Given the description of an element on the screen output the (x, y) to click on. 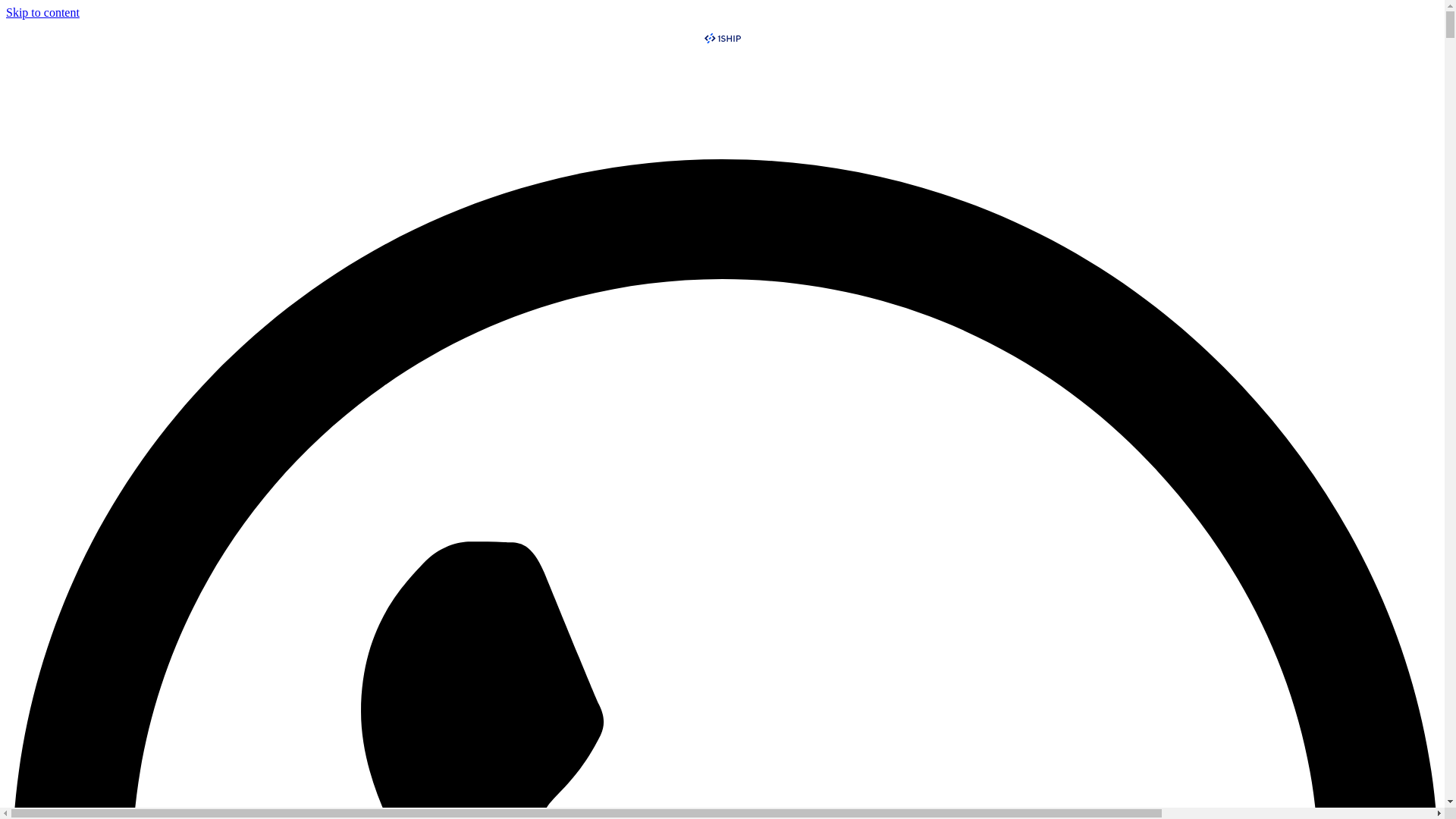
Skip to content Element type: text (42, 12)
